Given the description of an element on the screen output the (x, y) to click on. 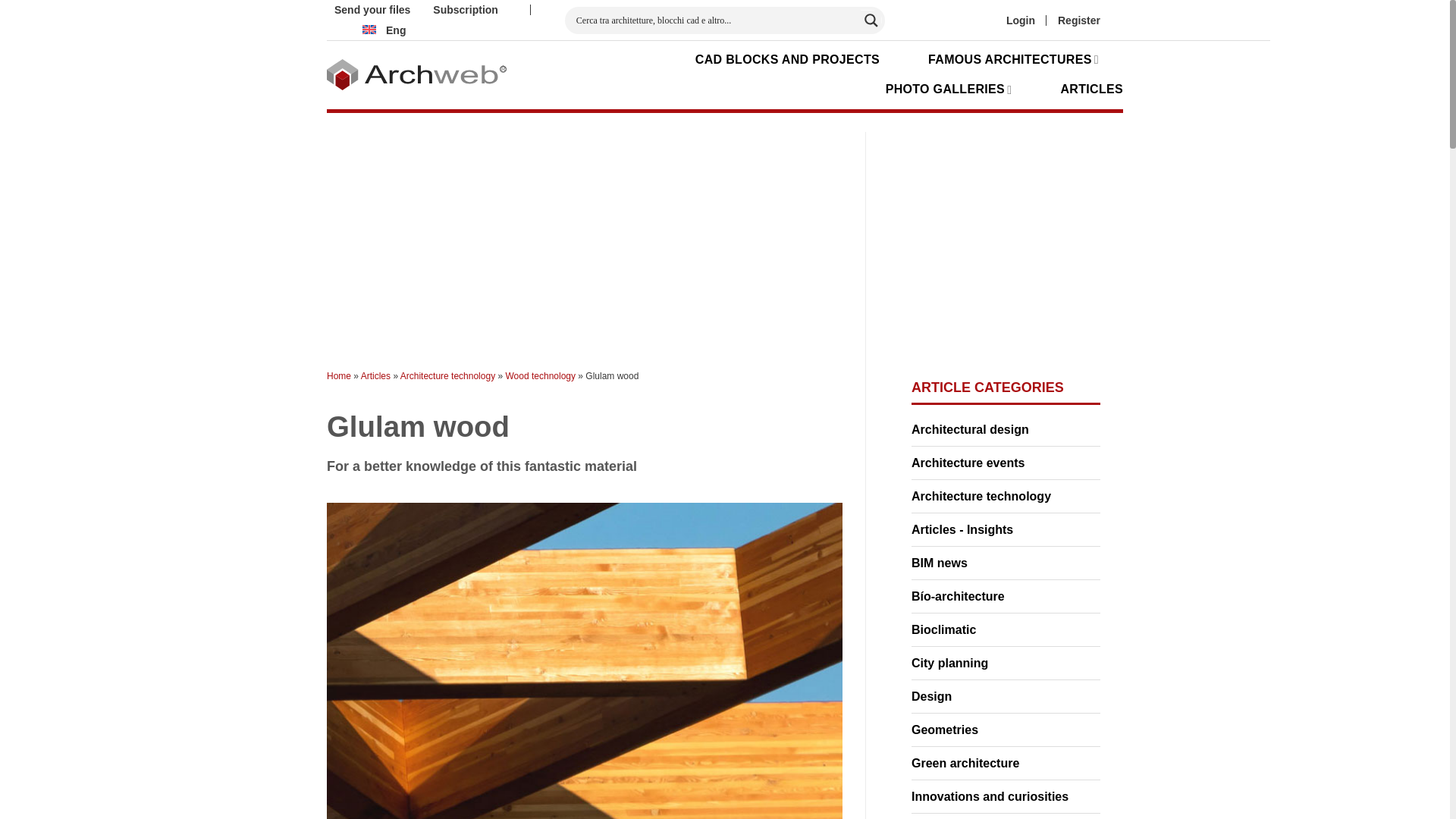
Archweb - Strumenti per la progettazione architettonica (416, 74)
Subscription (464, 10)
Eng (382, 30)
CAD BLOCKS AND PROJECTS (787, 59)
FAMOUS ARCHITECTURES (1013, 59)
Advertisement (1051, 245)
Send your files (372, 10)
Advertisement (632, 237)
Login (1020, 20)
PHOTO GALLERIES (948, 89)
Register (1079, 20)
